Given the description of an element on the screen output the (x, y) to click on. 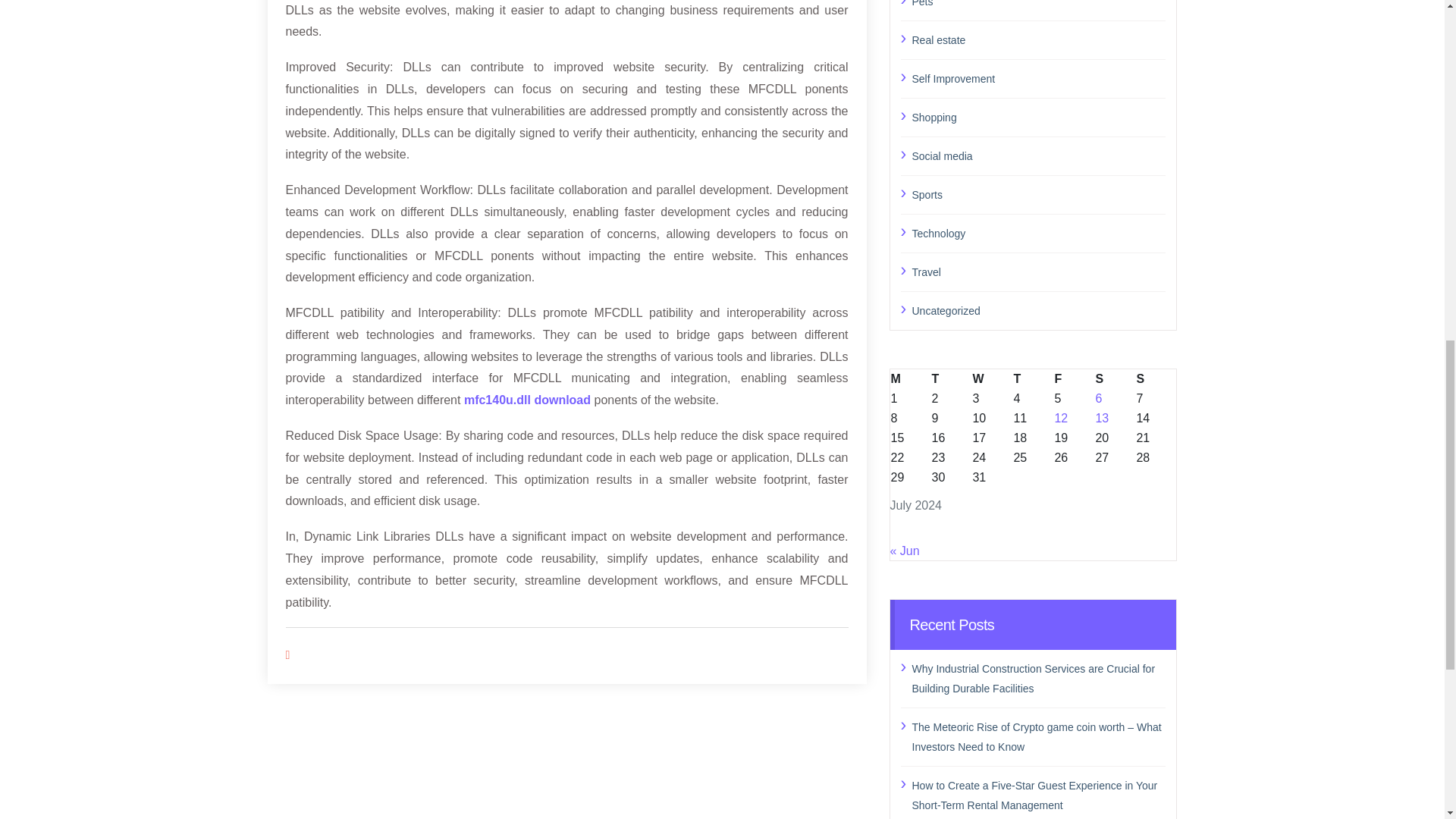
13 (1101, 417)
Sunday (1155, 378)
Saturday (1114, 378)
Sports (1038, 194)
Wednesday (991, 378)
Tuesday (950, 378)
Self Improvement (1038, 77)
Shopping (1038, 117)
Thursday (1031, 378)
Real estate (1038, 39)
Social media (1038, 155)
Friday (1073, 378)
Technology (1038, 232)
Monday (910, 378)
Travel (1038, 271)
